Given the description of an element on the screen output the (x, y) to click on. 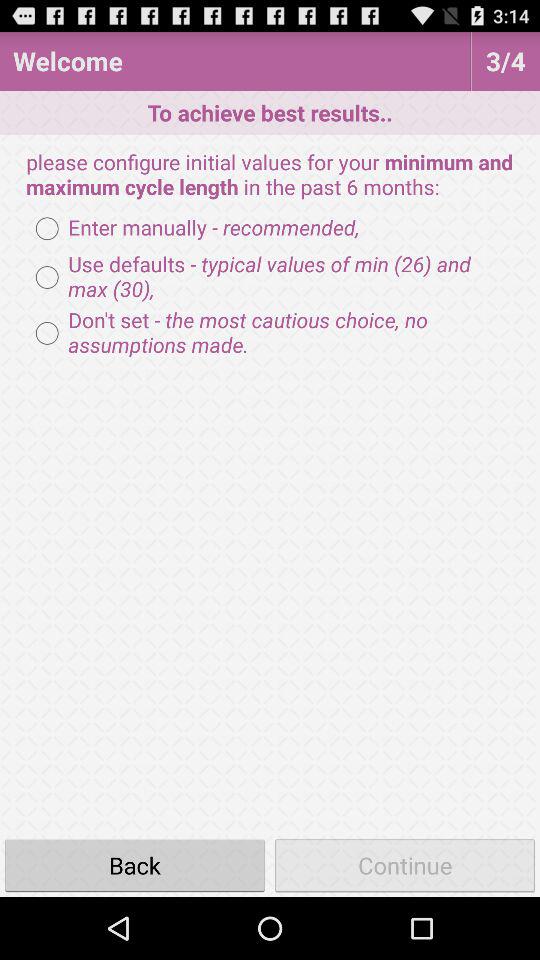
open icon below please configure initial (192, 228)
